Given the description of an element on the screen output the (x, y) to click on. 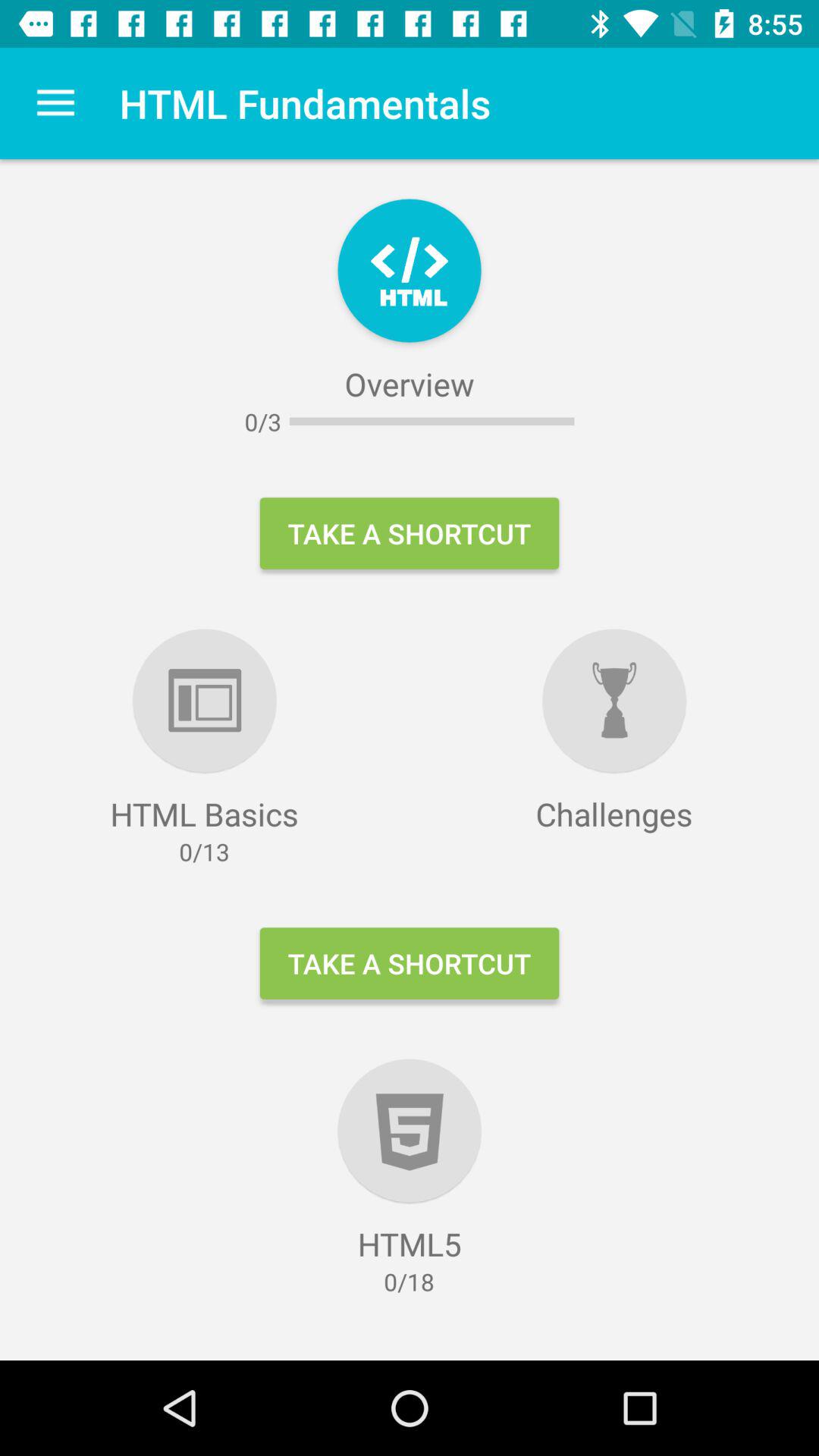
select the item to the left of html fundamentals (55, 103)
